Given the description of an element on the screen output the (x, y) to click on. 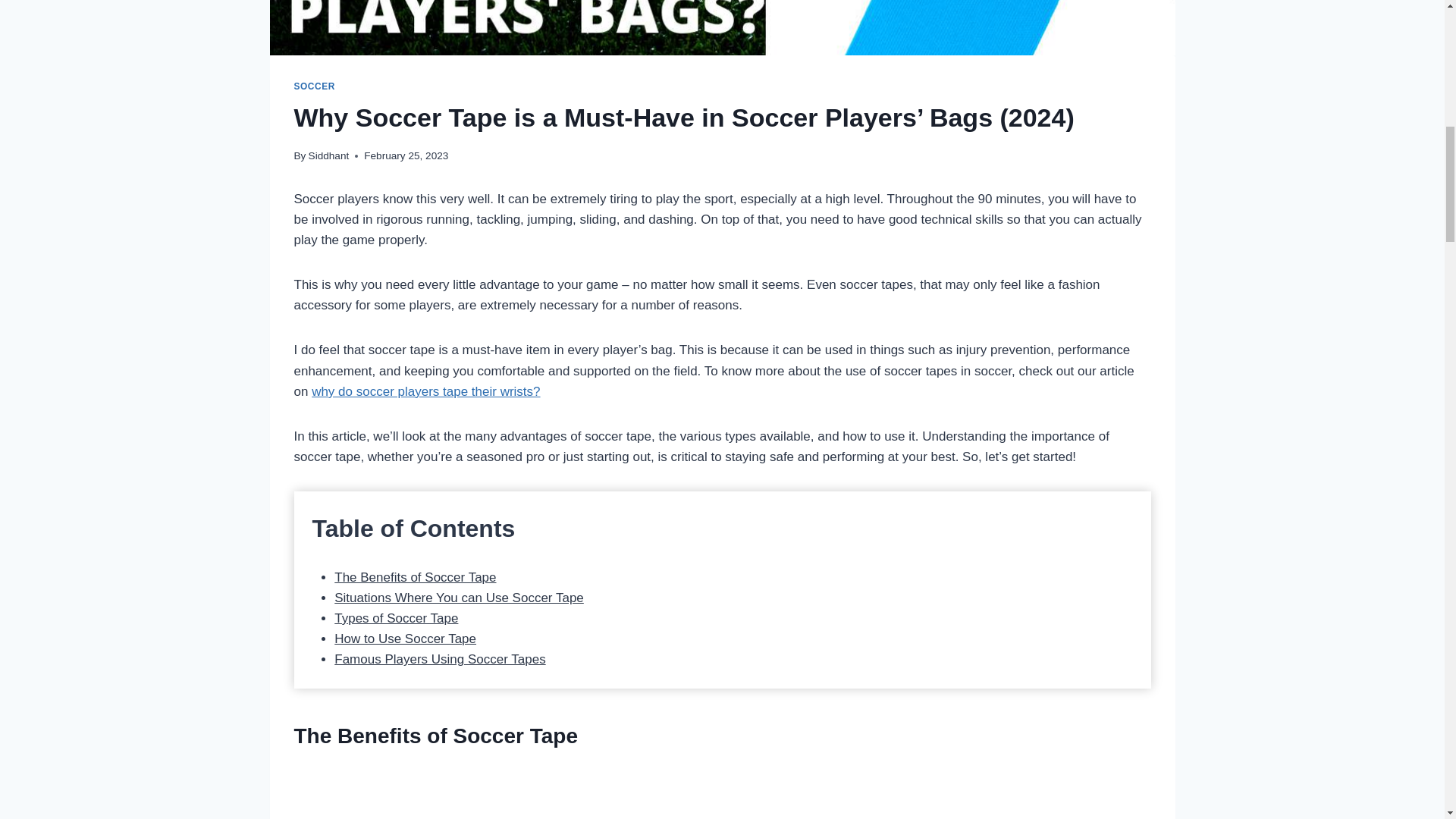
why do soccer players tape their wrists? (425, 391)
How to Use Soccer Tape (405, 638)
Famous Players Using Soccer Tapes (439, 658)
Siddhant (328, 155)
The Benefits of Soccer Tape (415, 577)
Situations Where You can Use Soccer Tape (458, 597)
SOCCER (314, 86)
Types of Soccer Tape (396, 617)
